Given the description of an element on the screen output the (x, y) to click on. 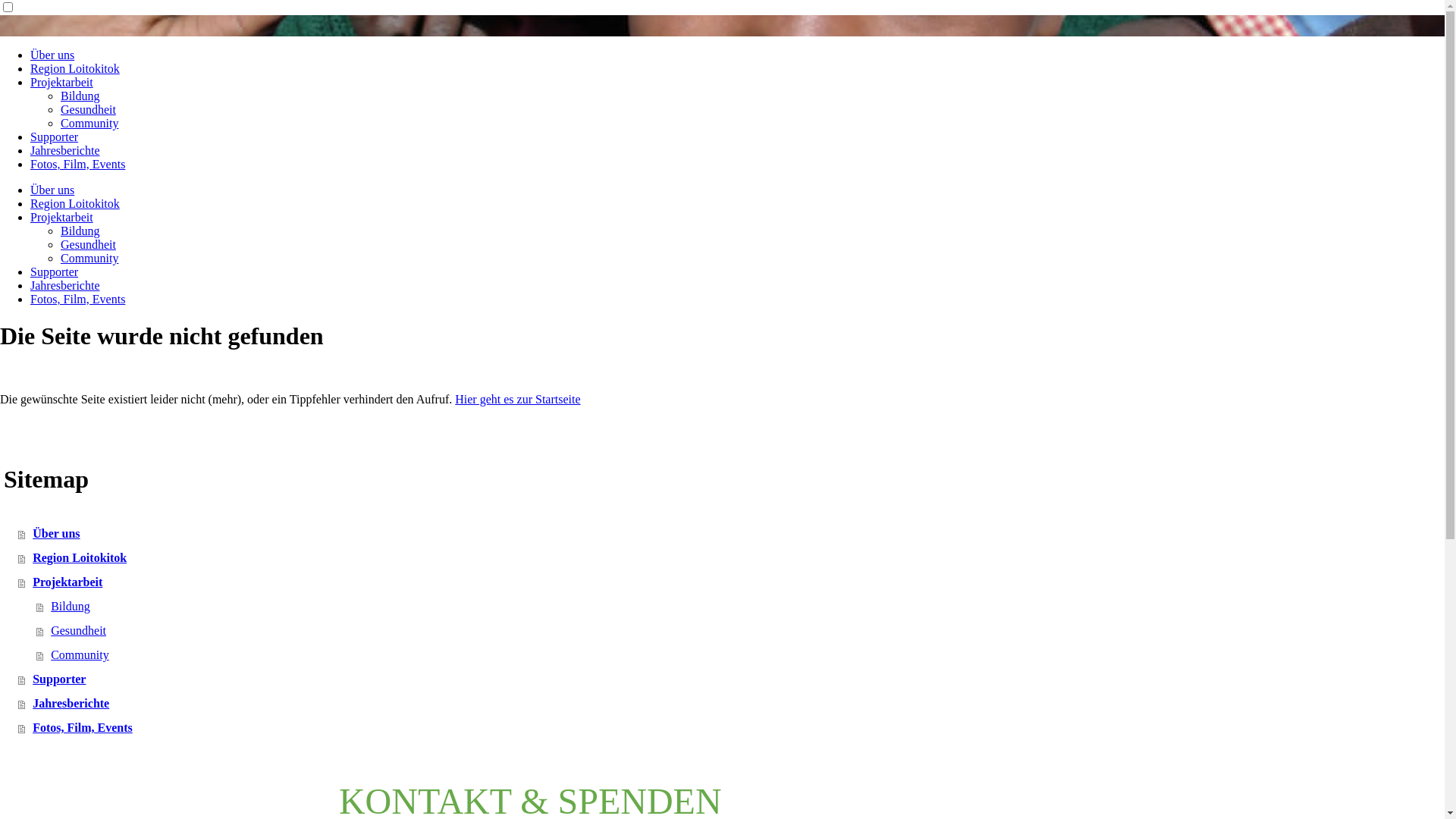
Jahresberichte Element type: text (731, 703)
Supporter Element type: text (54, 271)
Bildung Element type: text (740, 606)
Community Element type: text (89, 122)
Fotos, Film, Events Element type: text (731, 727)
Projektarbeit Element type: text (61, 81)
Projektarbeit Element type: text (731, 582)
Region Loitokitok Element type: text (74, 203)
Hier geht es zur Startseite Element type: text (517, 398)
Jahresberichte Element type: text (65, 150)
Bildung Element type: text (80, 230)
Region Loitokitok Element type: text (74, 68)
Gesundheit Element type: text (88, 244)
Projektarbeit Element type: text (61, 216)
Supporter Element type: text (54, 136)
Supporter Element type: text (731, 679)
Jahresberichte Element type: text (65, 285)
Community Element type: text (89, 257)
Region Loitokitok Element type: text (731, 558)
Fotos, Film, Events Element type: text (77, 163)
Bildung Element type: text (80, 95)
Fotos, Film, Events Element type: text (77, 298)
Gesundheit Element type: text (740, 630)
Community Element type: text (740, 655)
Gesundheit Element type: text (88, 109)
